Given the description of an element on the screen output the (x, y) to click on. 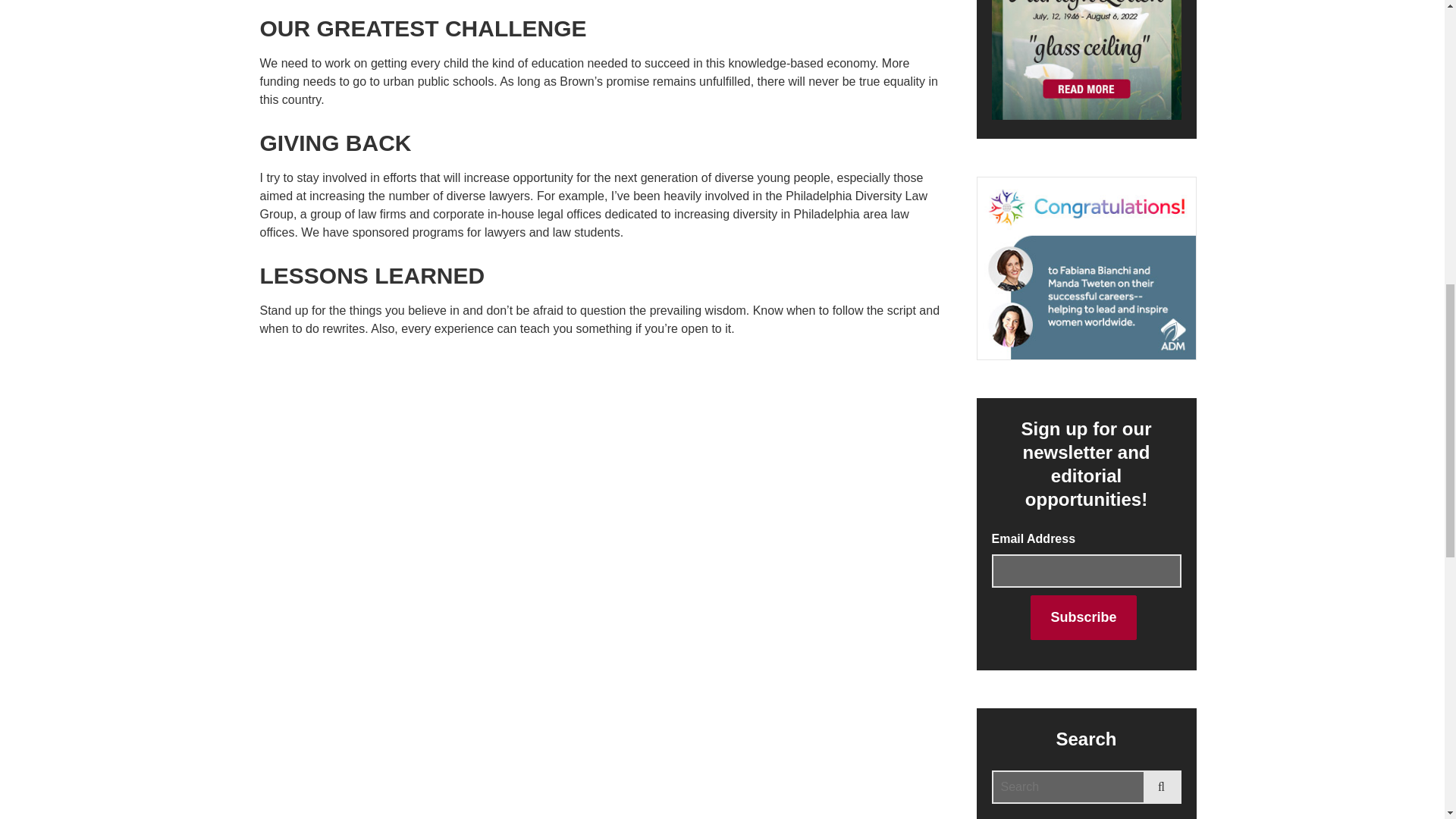
Subscribe (1082, 617)
